Given the description of an element on the screen output the (x, y) to click on. 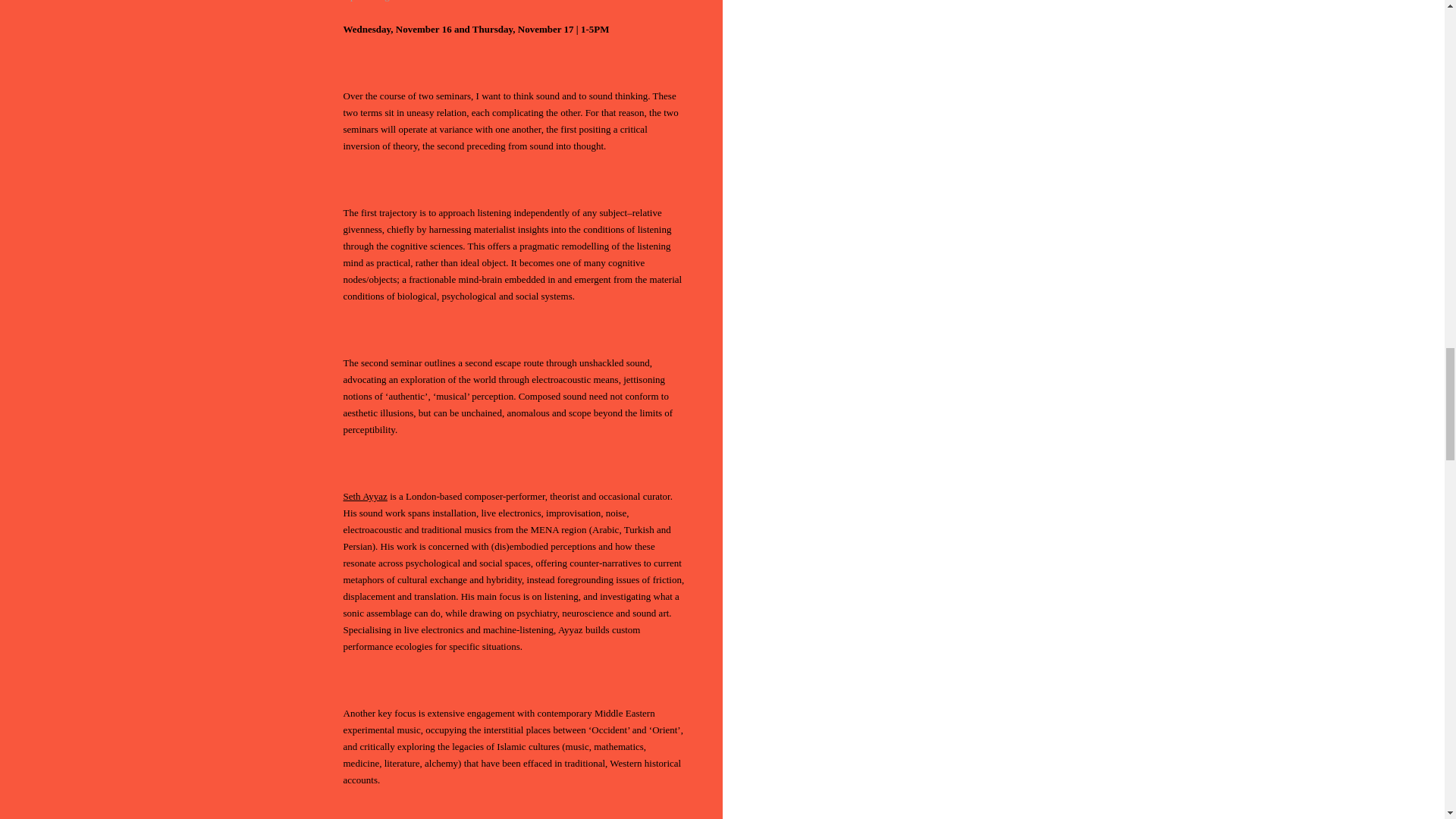
Seth Ayyaz (364, 496)
